Given the description of an element on the screen output the (x, y) to click on. 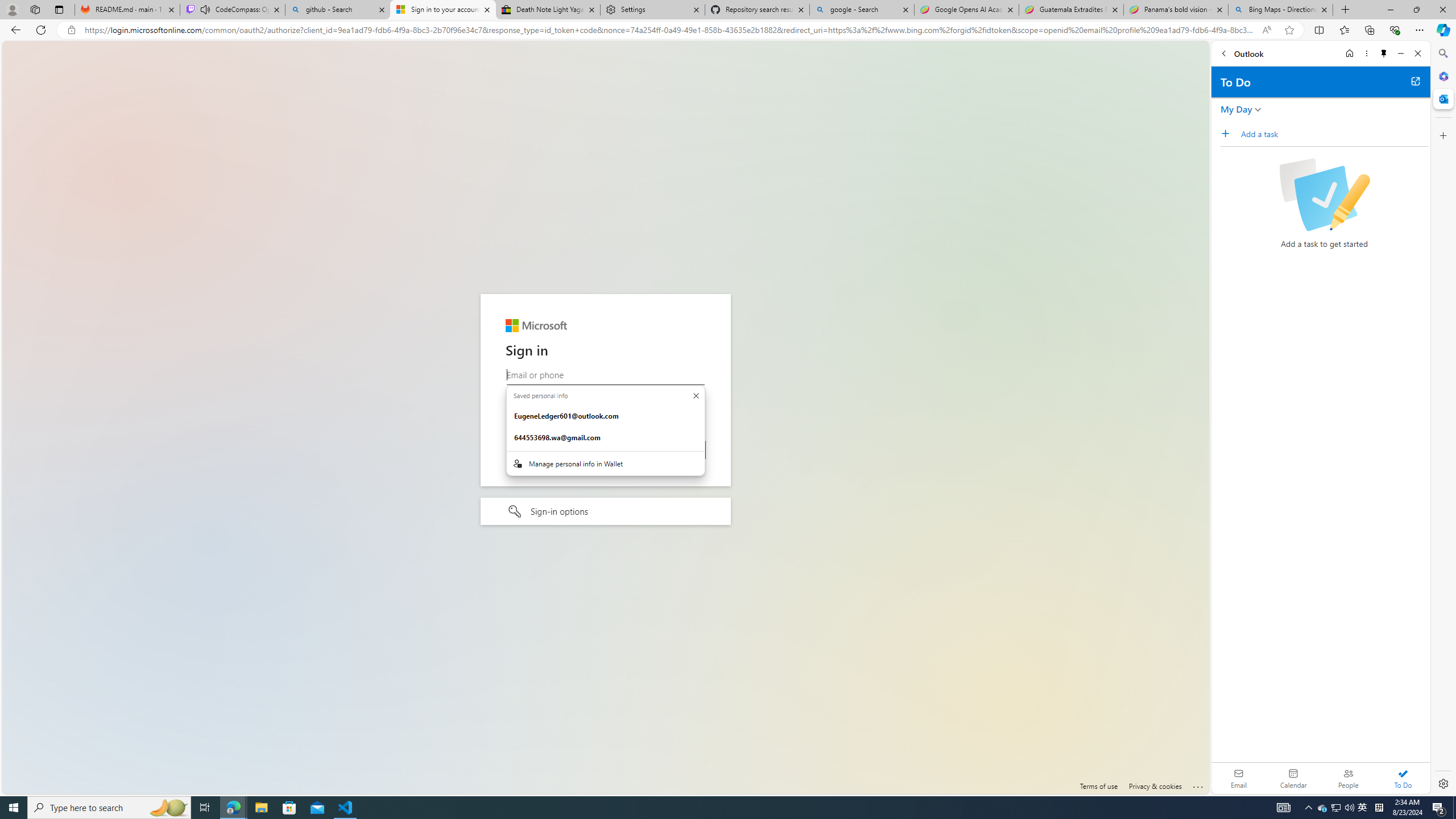
Sign in to your account (442, 9)
